Given the description of an element on the screen output the (x, y) to click on. 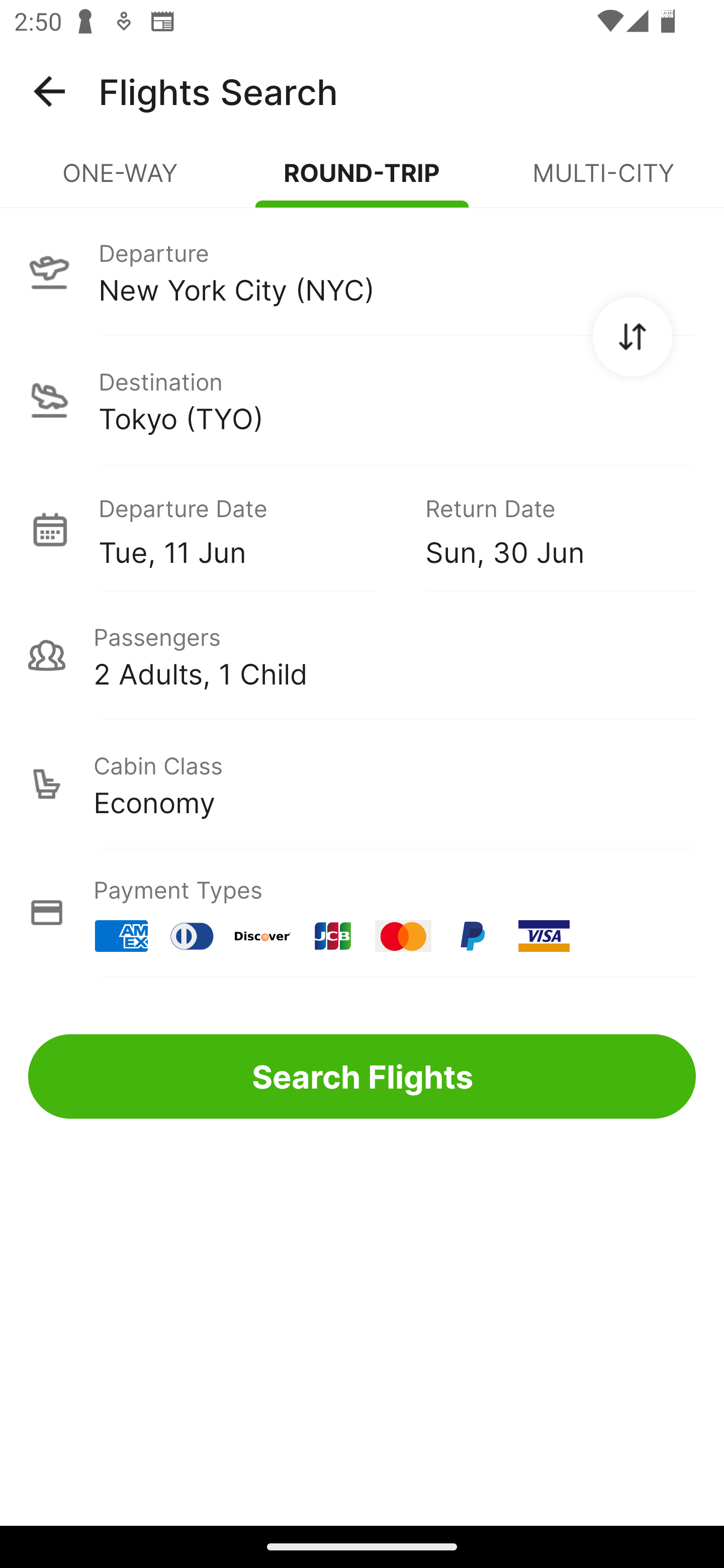
ONE-WAY (120, 180)
ROUND-TRIP (361, 180)
MULTI-CITY (603, 180)
Departure New York City (NYC) (362, 270)
Destination Tokyo (TYO) (362, 400)
Departure Date Tue, 11 Jun (247, 528)
Return Date Sun, 30 Jun (546, 528)
Passengers 2 Adults, 1 Child (362, 655)
Cabin Class Economy (362, 783)
Payment Types (362, 912)
Search Flights (361, 1075)
